Given the description of an element on the screen output the (x, y) to click on. 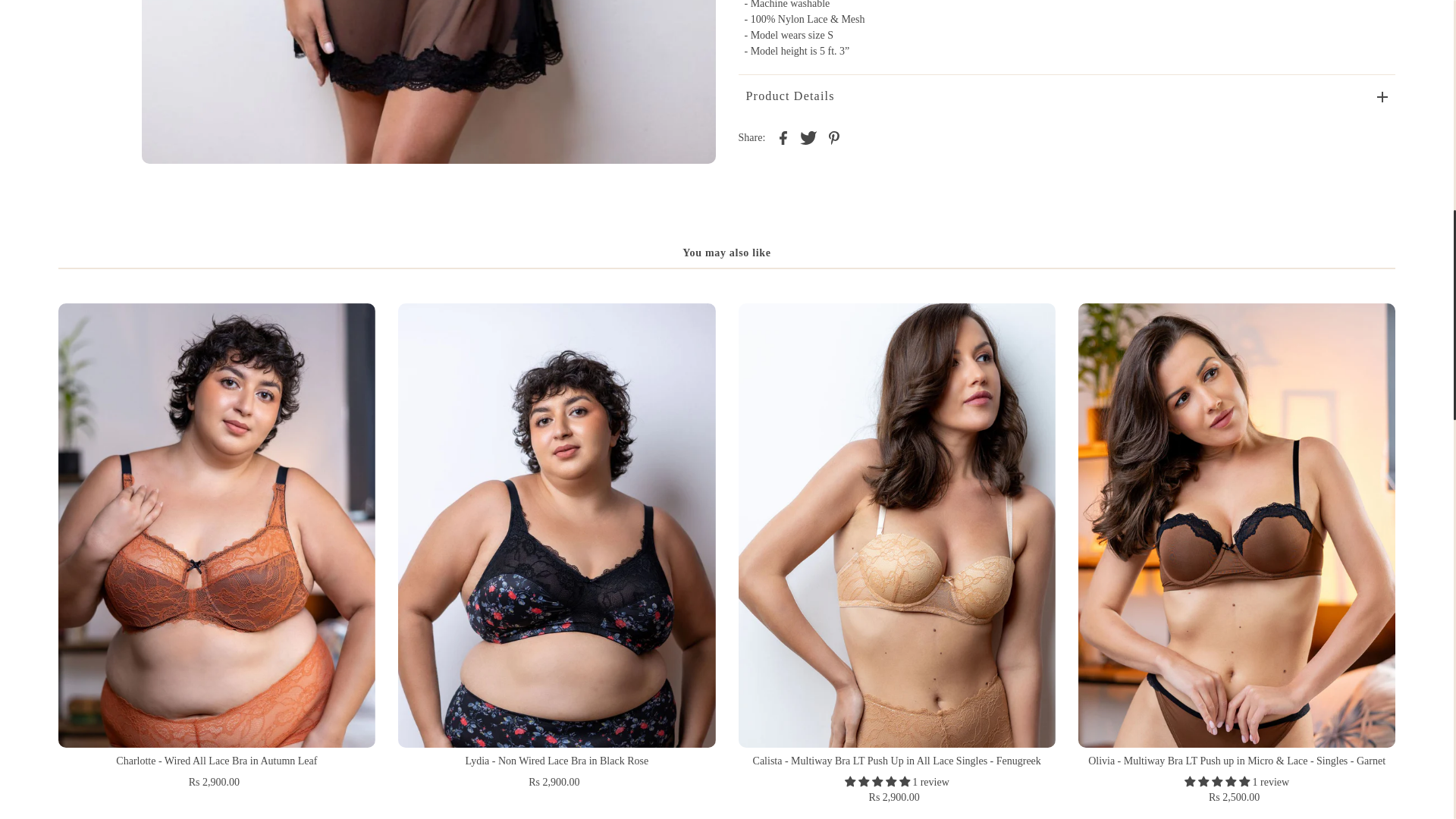
Share on Pinterest (833, 137)
Share on Twitter (807, 137)
Share on Facebook (782, 137)
